Given the description of an element on the screen output the (x, y) to click on. 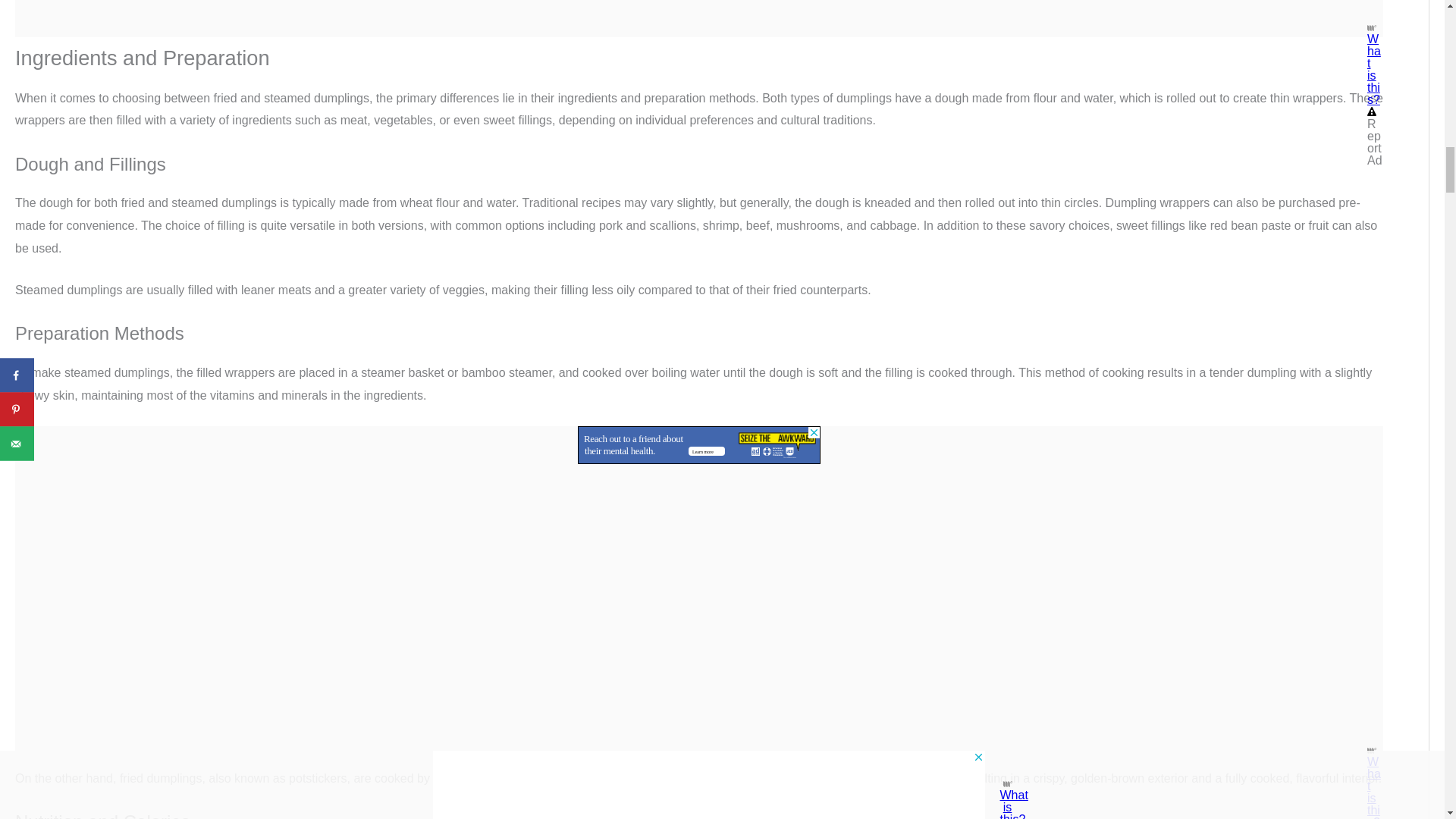
3rd party ad content (699, 444)
